Given the description of an element on the screen output the (x, y) to click on. 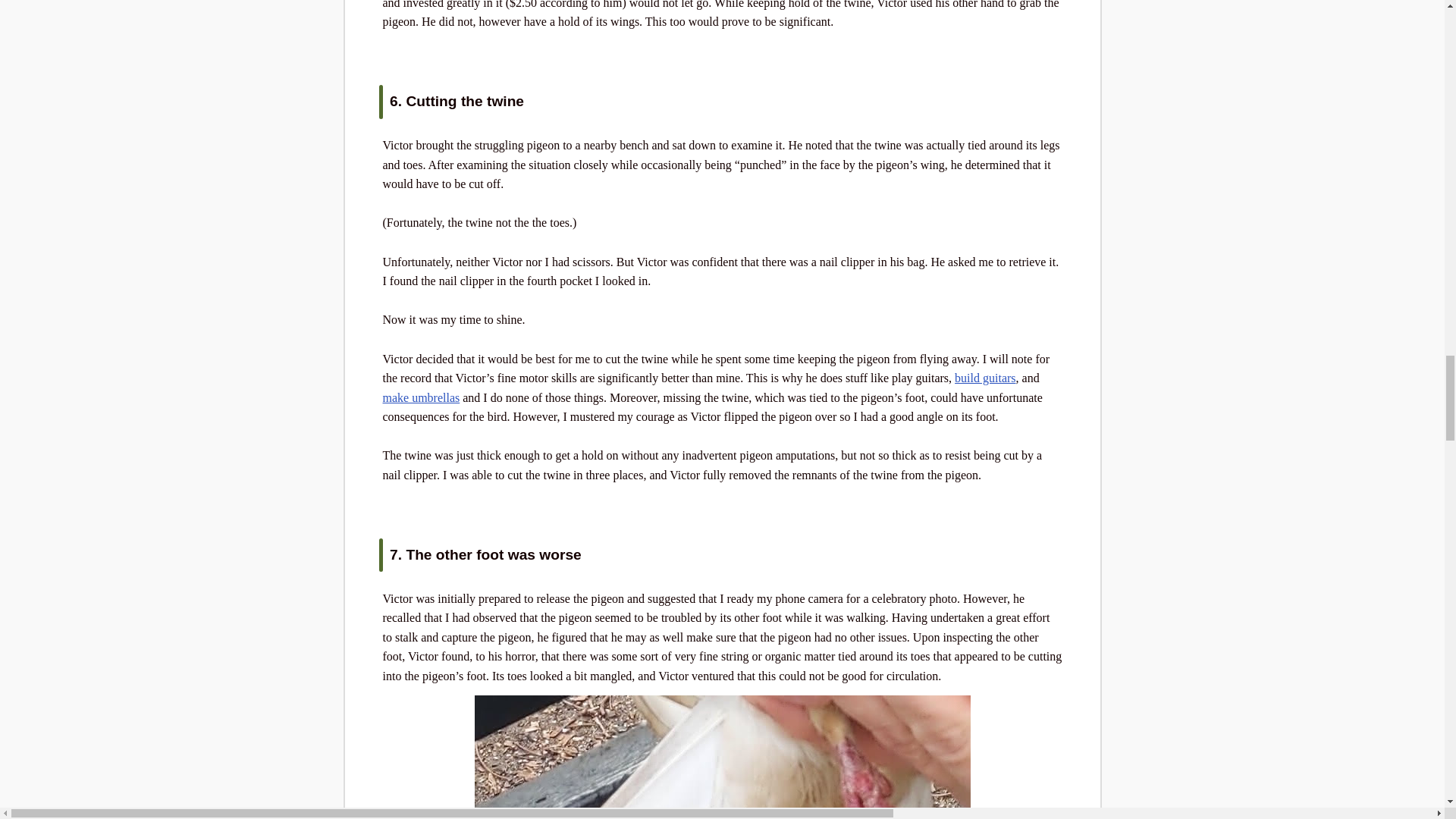
make umbrellas (420, 397)
build guitars (984, 377)
